Given the description of an element on the screen output the (x, y) to click on. 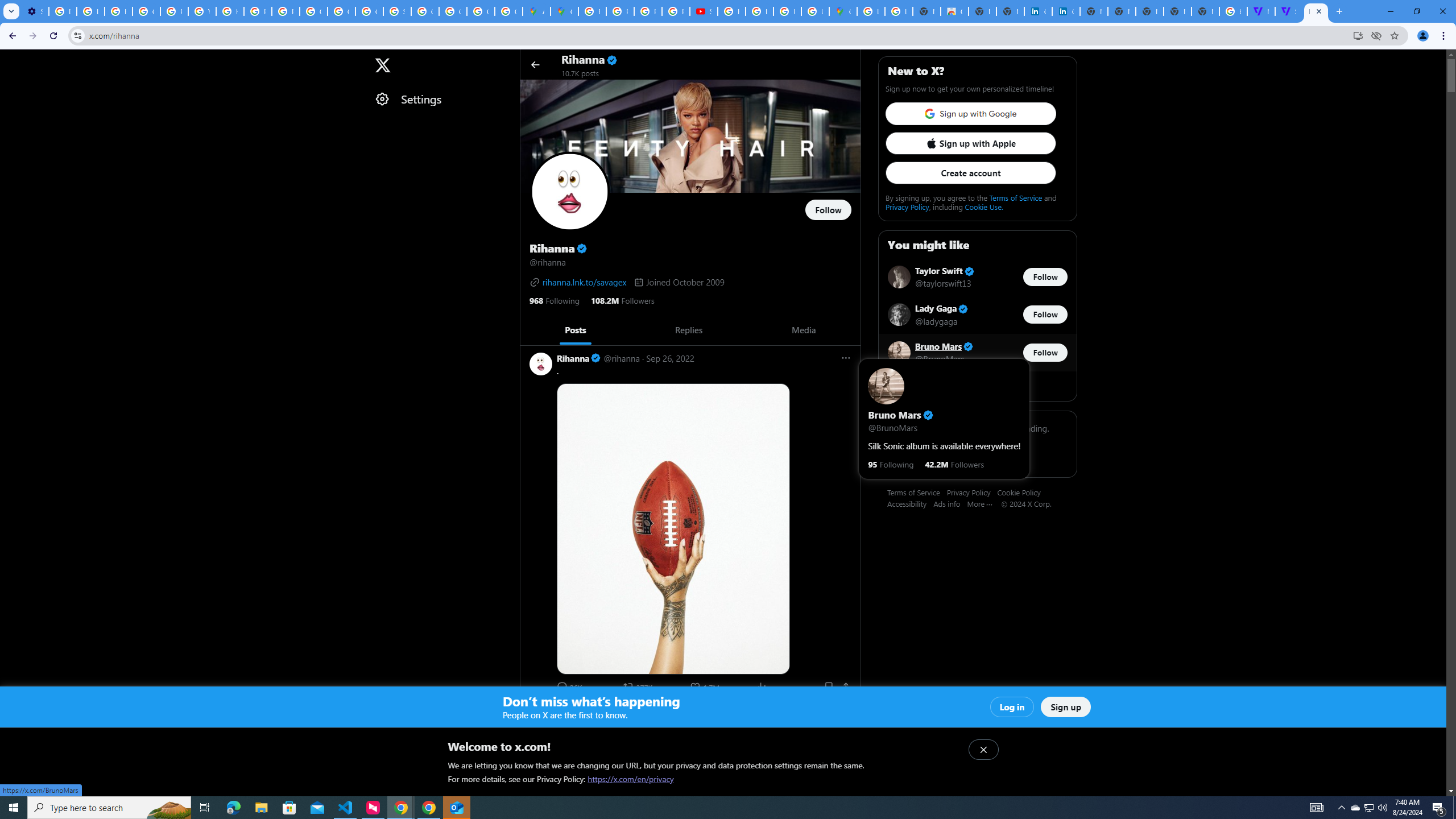
@britishvogue (654, 724)
Google Maps (842, 11)
Blogger Policies and Guidelines - Transparency Center (592, 11)
YouTube (202, 11)
@rihanna (621, 711)
Retry (976, 455)
Google Maps (564, 11)
Cookie Policy (1022, 492)
https://x.com/en/privacy (631, 778)
